Given the description of an element on the screen output the (x, y) to click on. 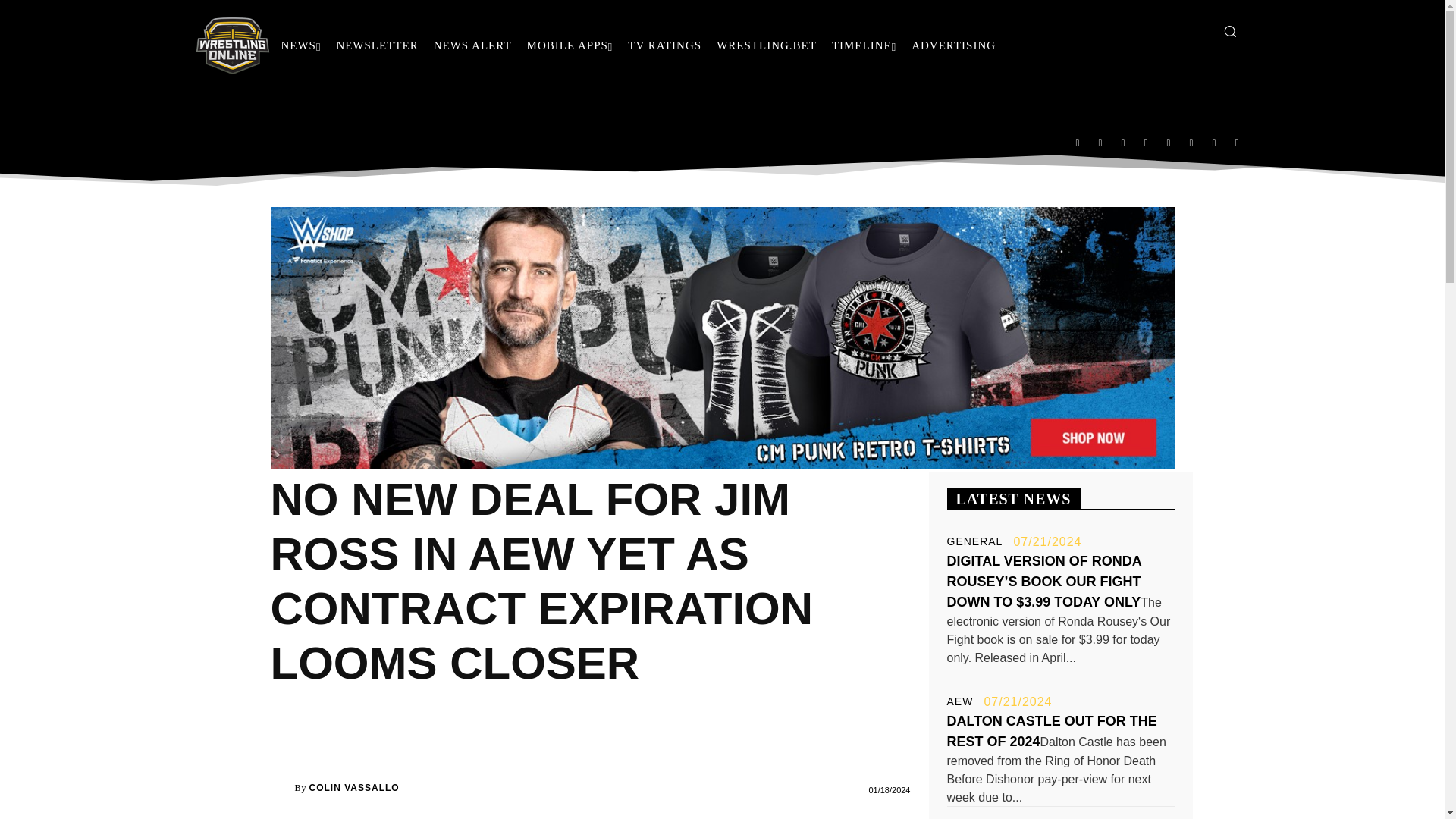
Mail (1123, 141)
TikTok (1169, 141)
WhatsApp (1214, 141)
Twitter (1191, 141)
Facebook (1077, 141)
NEWS (301, 44)
RSS (1145, 141)
Instagram (1100, 141)
